Given the description of an element on the screen output the (x, y) to click on. 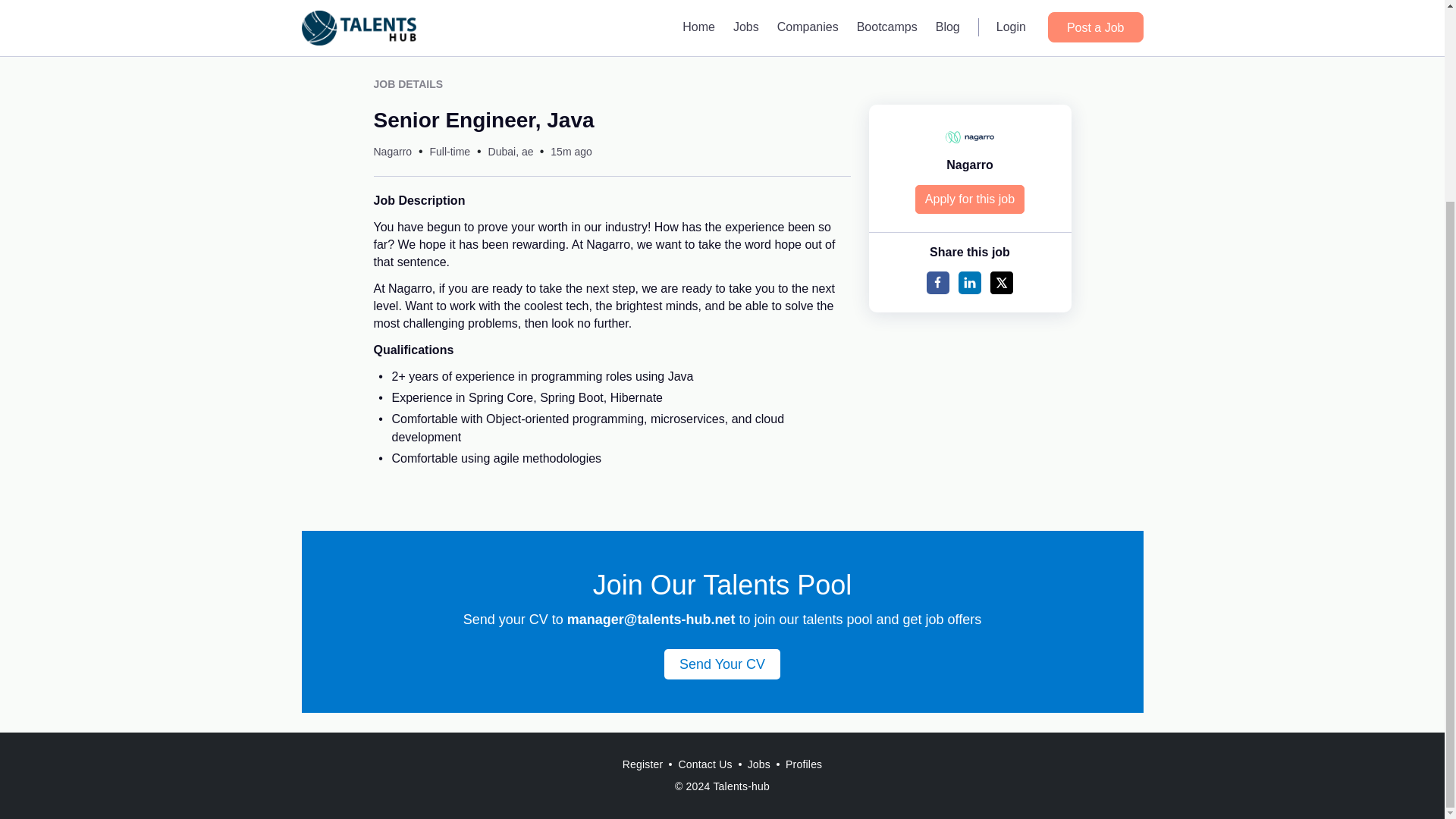
Share to Twitter (1001, 282)
Nagarro (969, 164)
Jobs search (721, 45)
Send Your CV (721, 664)
Profiles (803, 764)
Share to FB (937, 282)
Contact Us (704, 764)
Apply for this job (970, 199)
Nagarro (392, 151)
Jobs (758, 764)
